Given the description of an element on the screen output the (x, y) to click on. 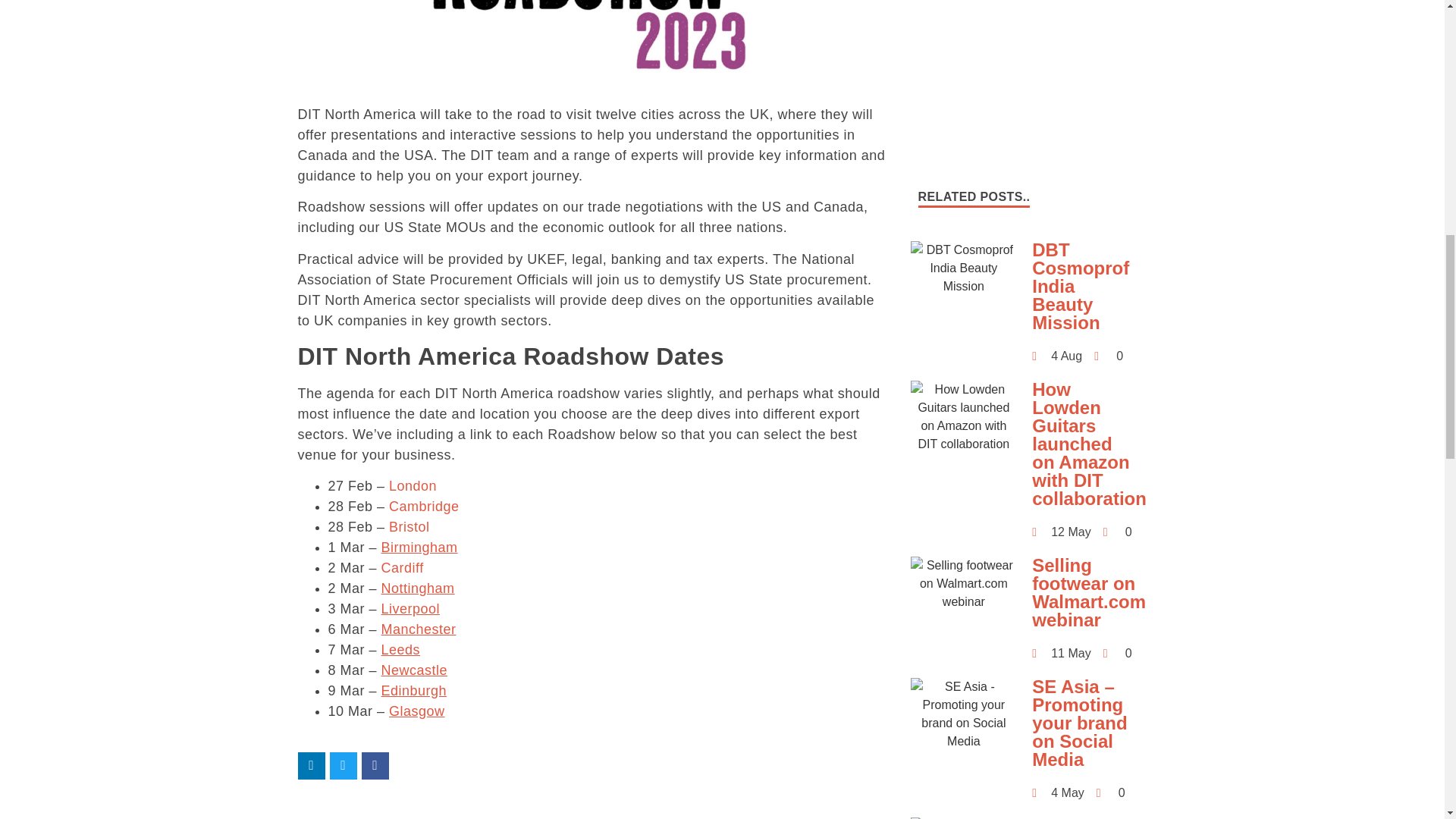
Selling footwear on Walmart.com webinar (963, 583)
DBT Cosmoprof India Beauty Mission (963, 267)
How Lowden Guitars launched on Amazon with DIT collaboration (963, 416)
How to succeed in the Nigerian retail market (963, 818)
